Given the description of an element on the screen output the (x, y) to click on. 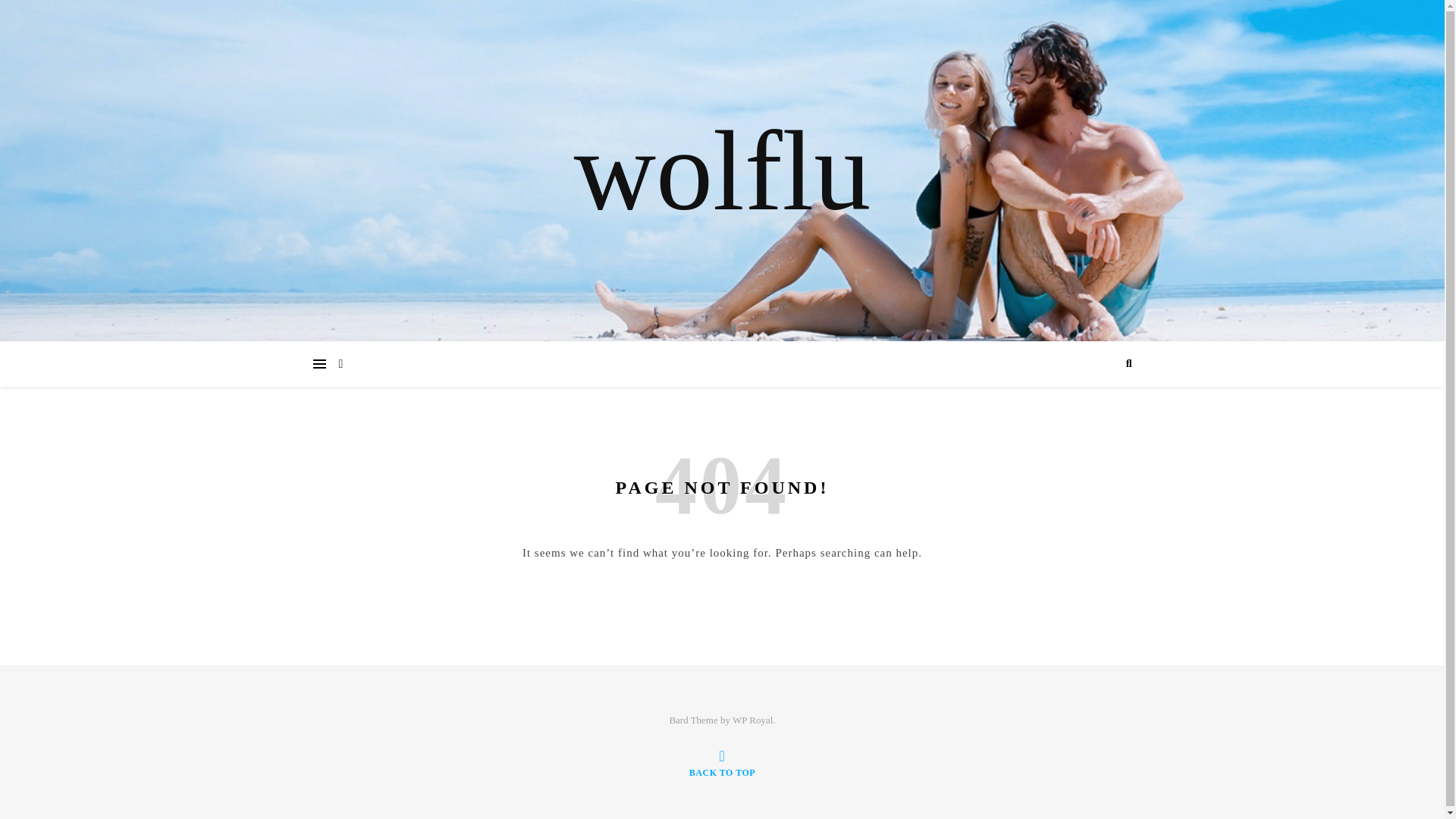
WP Royal (752, 719)
BACK TO TOP (722, 763)
